Given the description of an element on the screen output the (x, y) to click on. 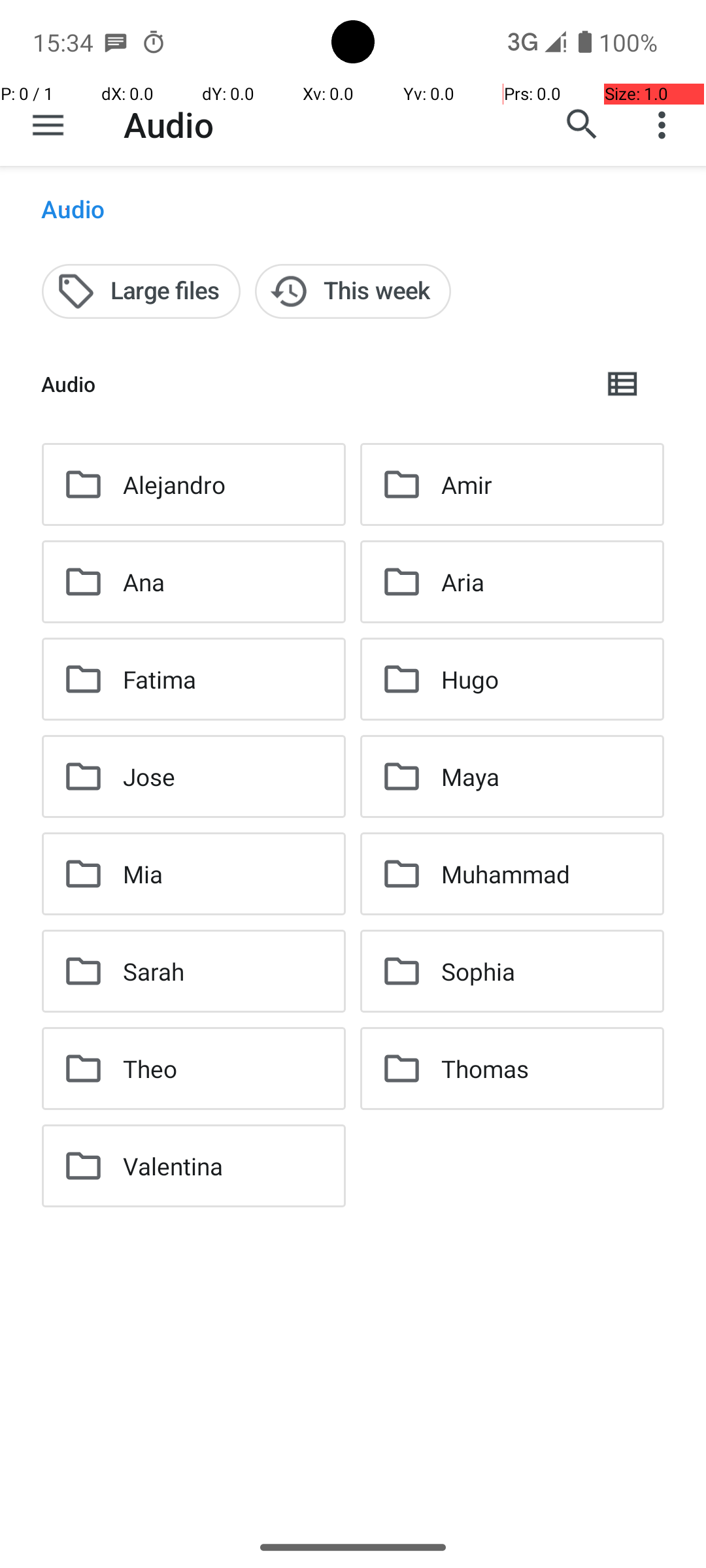
Alejandro Element type: android.widget.TextView (173, 484)
Amir Element type: android.widget.TextView (466, 484)
Ana Element type: android.widget.TextView (143, 581)
Aria Element type: android.widget.TextView (462, 581)
Fatima Element type: android.widget.TextView (159, 678)
Hugo Element type: android.widget.TextView (469, 678)
Jose Element type: android.widget.TextView (148, 776)
Maya Element type: android.widget.TextView (470, 776)
Mia Element type: android.widget.TextView (142, 873)
Muhammad Element type: android.widget.TextView (505, 873)
Sarah Element type: android.widget.TextView (153, 970)
Sophia Element type: android.widget.TextView (478, 970)
Theo Element type: android.widget.TextView (149, 1068)
Thomas Element type: android.widget.TextView (484, 1068)
Valentina Element type: android.widget.TextView (172, 1165)
